Given the description of an element on the screen output the (x, y) to click on. 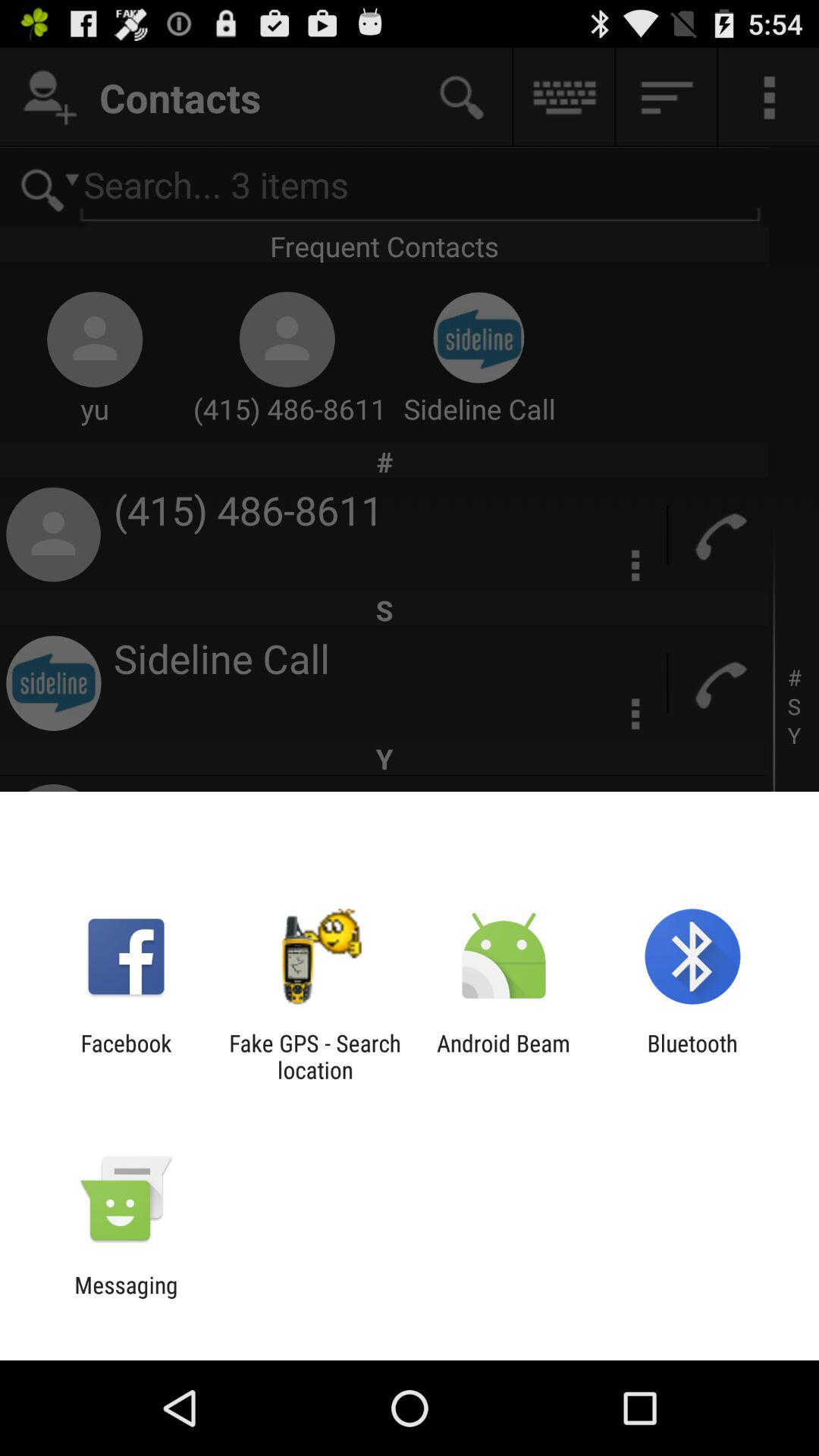
scroll to the fake gps search item (314, 1056)
